Given the description of an element on the screen output the (x, y) to click on. 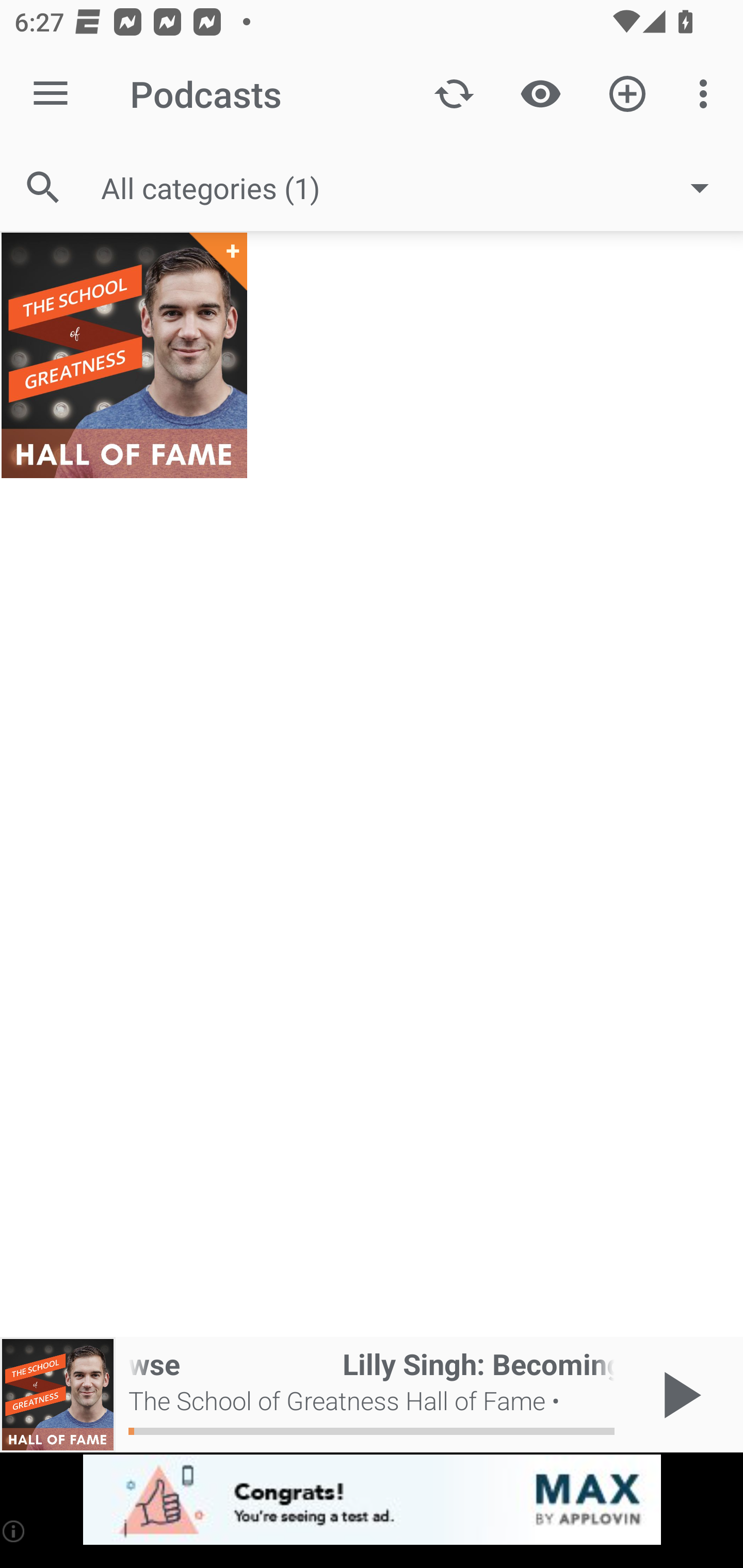
Open navigation sidebar (50, 93)
Update (453, 93)
Show / Hide played content (540, 93)
Add new Podcast (626, 93)
More options (706, 93)
Search (43, 187)
All categories (1) (414, 188)
The School of Greatness Hall of Fame + (124, 355)
Play / Pause (677, 1394)
app-monetization (371, 1500)
(i) (14, 1531)
